Given the description of an element on the screen output the (x, y) to click on. 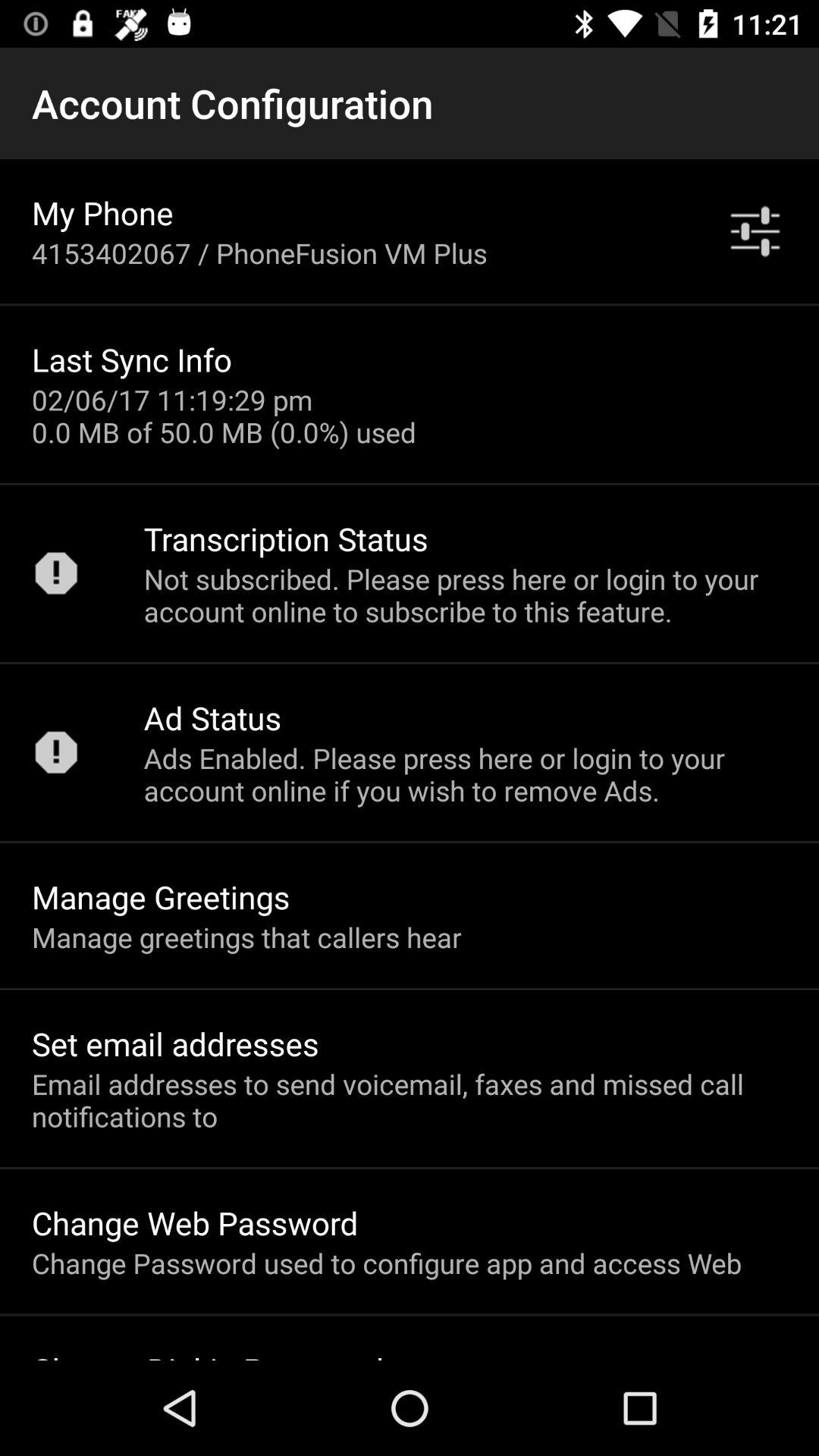
click item above the ad status icon (465, 595)
